Given the description of an element on the screen output the (x, y) to click on. 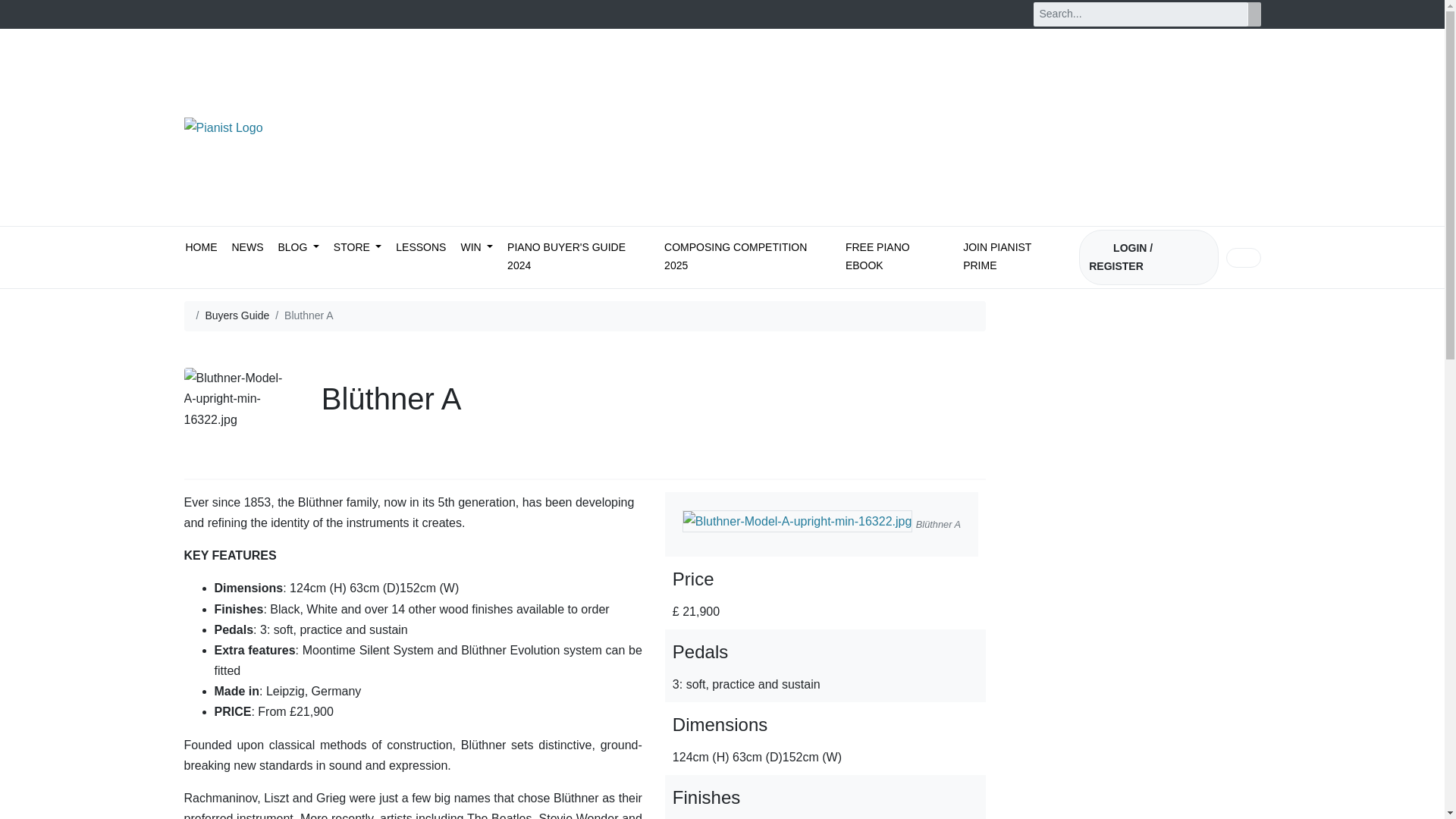
PIANO BUYER'S GUIDE 2024 (577, 257)
FREE PIANO EBOOK (897, 257)
LESSONS (420, 248)
STORE (356, 248)
Bluthner-Model-A-upright-min-16322.jpg (234, 398)
BLOG (298, 248)
Bluthner-Model-A-upright-min-16322.jpg (797, 521)
JOIN PIANIST PRIME (1013, 257)
COMPOSING COMPETITION 2025 (747, 257)
